Given the description of an element on the screen output the (x, y) to click on. 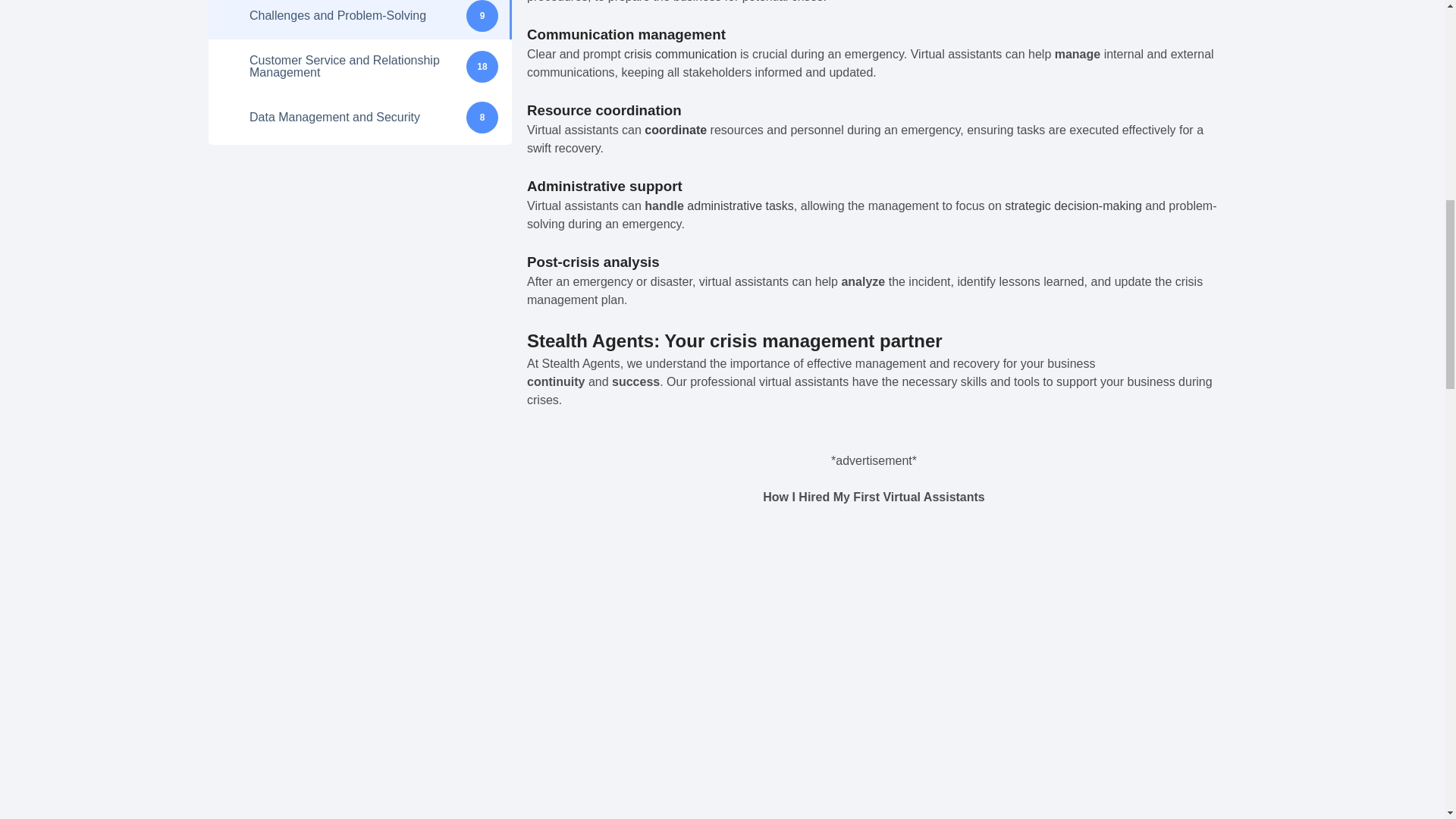
YouTube video player (873, 671)
